Given the description of an element on the screen output the (x, y) to click on. 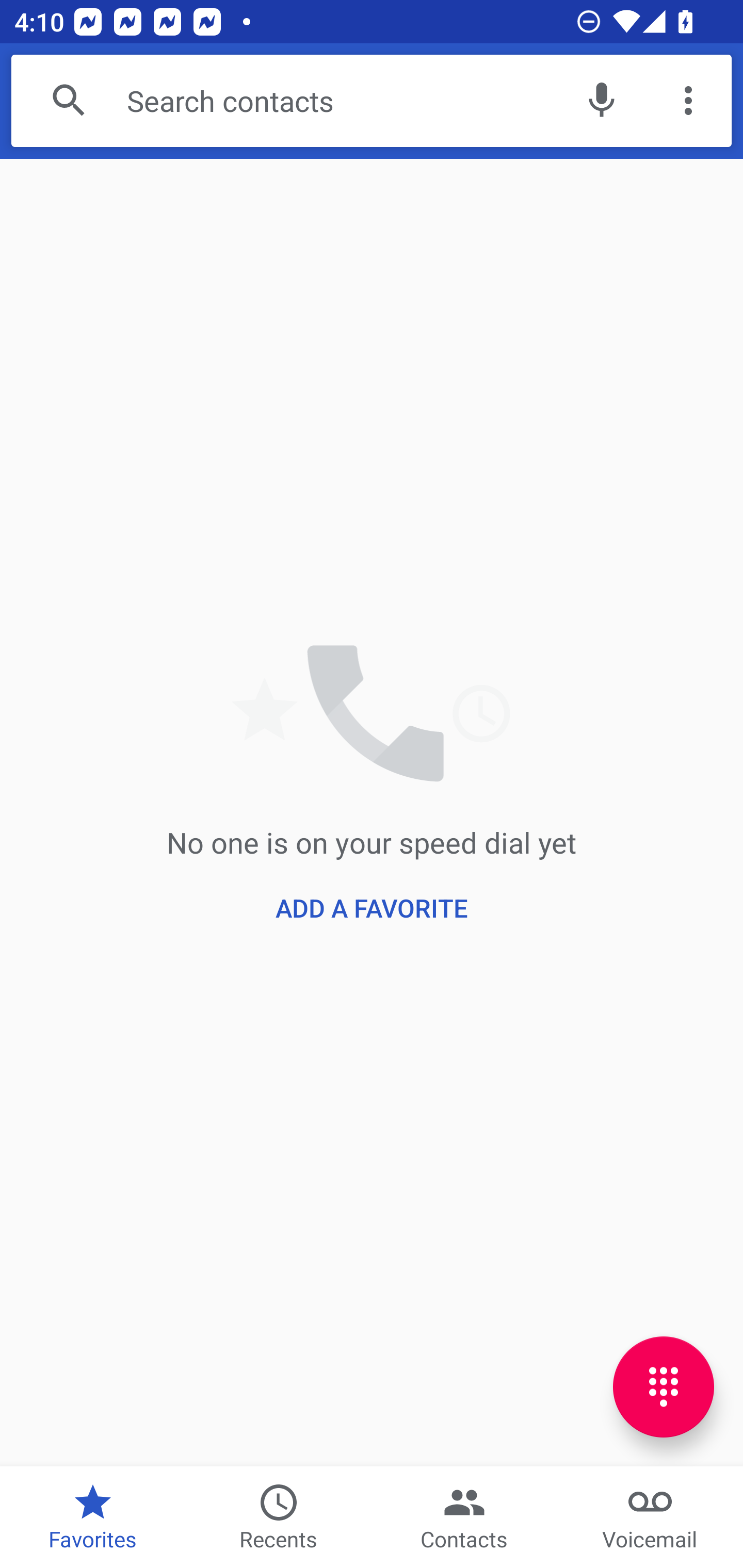
Search contacts Start voice search More options (371, 100)
Start voice search (600, 101)
More options (687, 101)
No one is on your speed dial yet ADD A FAVORITE (371, 812)
ADD A FAVORITE (371, 907)
key pad (663, 1386)
Favorites (92, 1517)
Recents (278, 1517)
Contacts (464, 1517)
Voicemail (650, 1517)
